Given the description of an element on the screen output the (x, y) to click on. 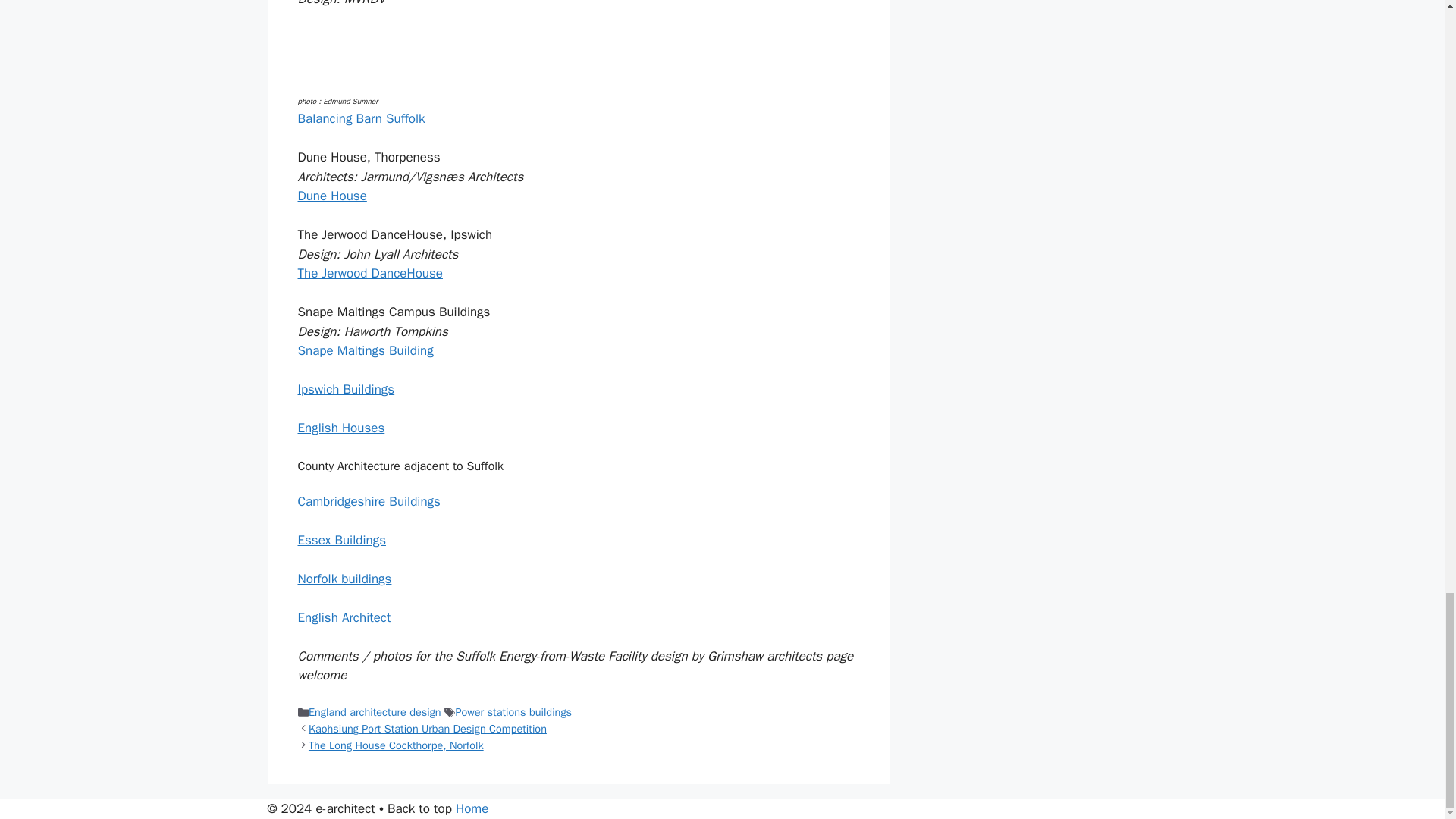
Cambridgeshire Buildings (368, 501)
The Jerwood DanceHouse (369, 273)
English Houses (340, 427)
Ipswich Buildings (345, 389)
Balancing Barn Suffolk (361, 118)
Snape Maltings Building (364, 350)
Dune House (331, 195)
Essex Buildings (341, 539)
